Given the description of an element on the screen output the (x, y) to click on. 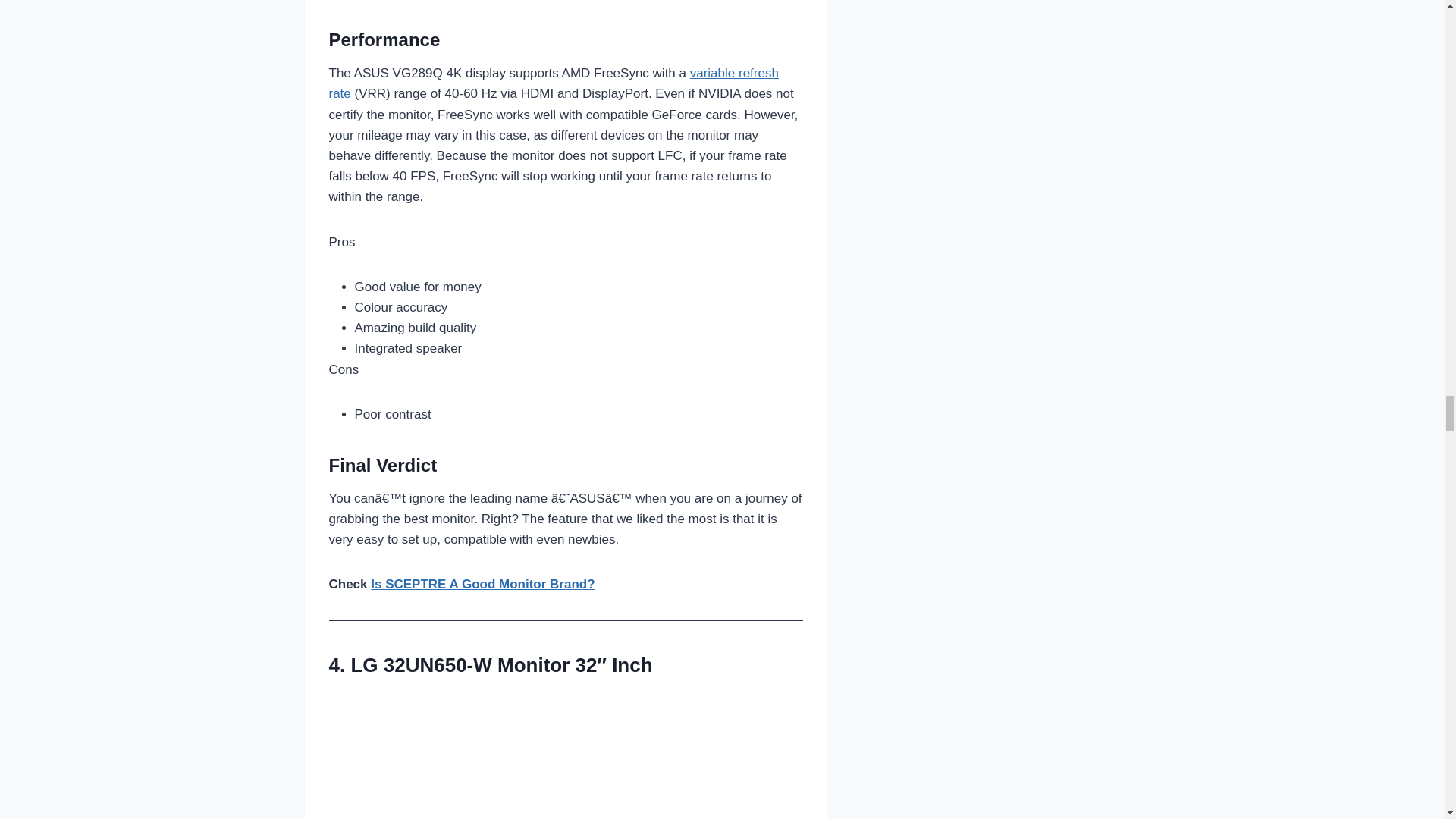
variable refresh rate (553, 83)
Is SCEPTRE A Good Monitor Brand? (482, 584)
